Given the description of an element on the screen output the (x, y) to click on. 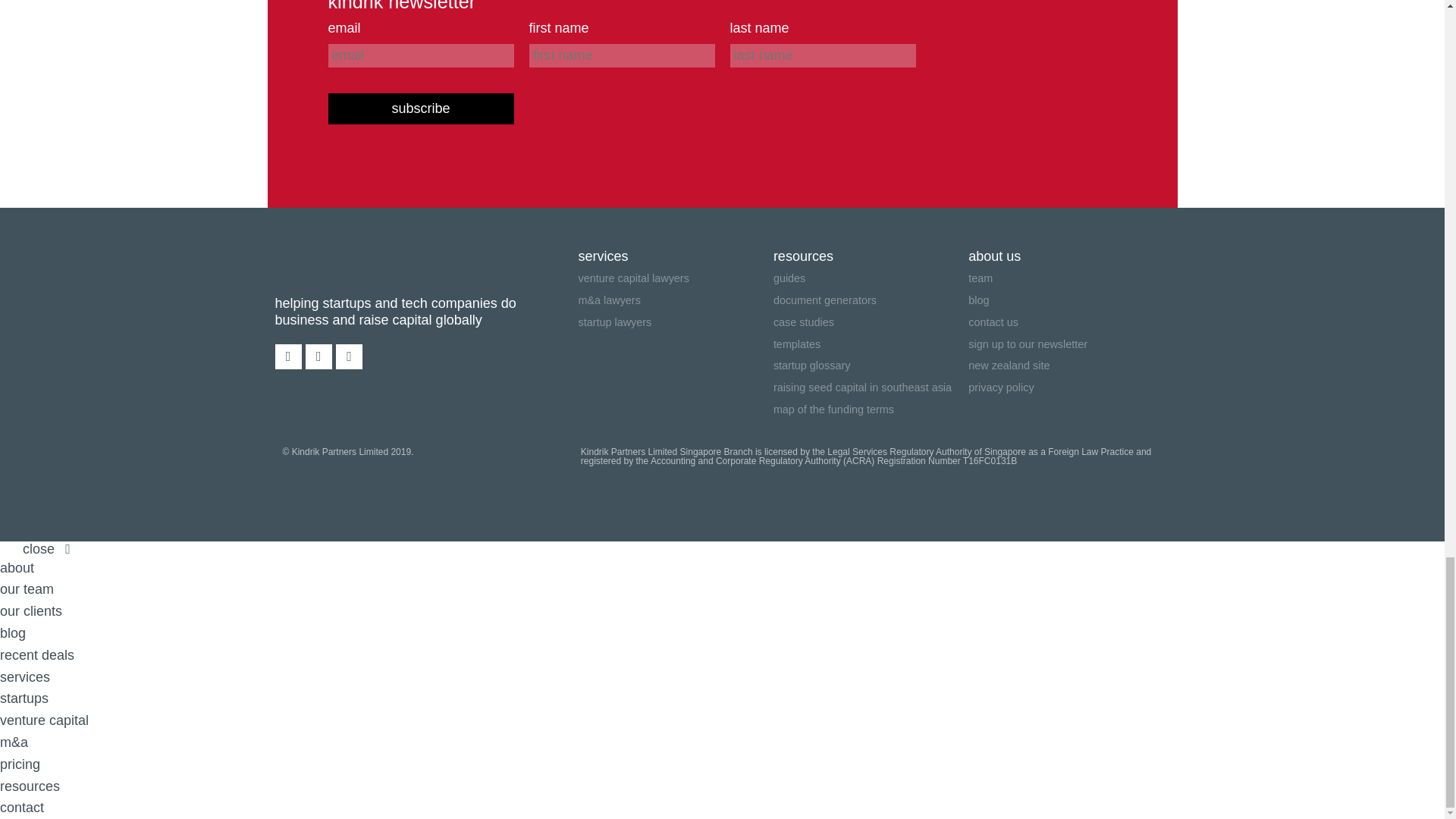
startup glossary (870, 365)
raising seed capital in southeast asia (870, 387)
services (675, 256)
templates (870, 343)
case studies (870, 322)
Subscribe (420, 108)
venture capital lawyers (675, 278)
guides (870, 278)
Subscribe (420, 108)
resources (870, 256)
